Given the description of an element on the screen output the (x, y) to click on. 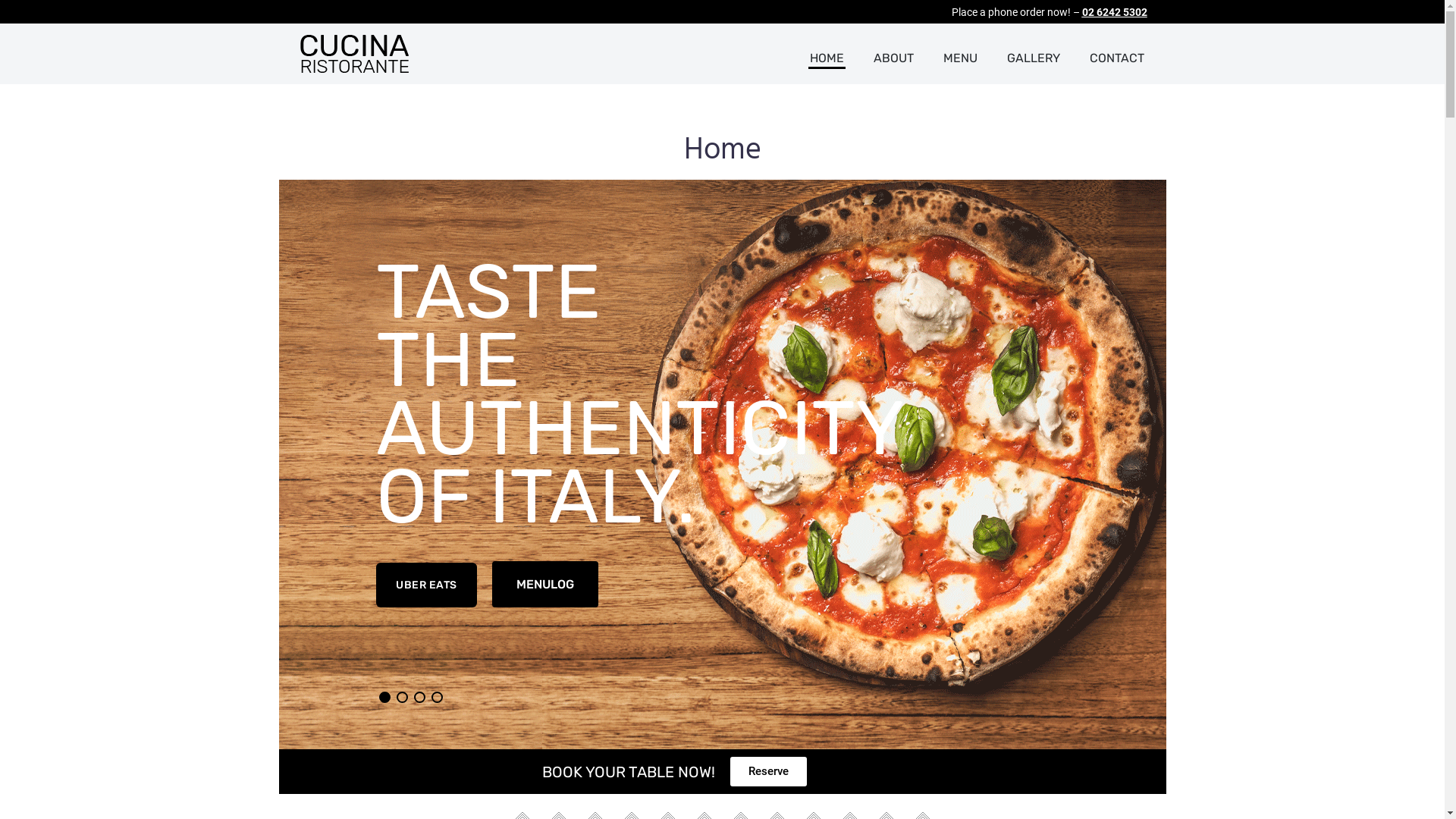
Reserve Element type: text (767, 771)
GALLERY Element type: text (1033, 59)
MENULOG Element type: text (545, 584)
CONTACT Element type: text (1116, 59)
HOME Element type: text (826, 59)
MENU Element type: text (960, 59)
ABOUT Element type: text (893, 59)
02 6242 5302 Element type: text (1113, 12)
UBER EATS Element type: text (426, 584)
